Given the description of an element on the screen output the (x, y) to click on. 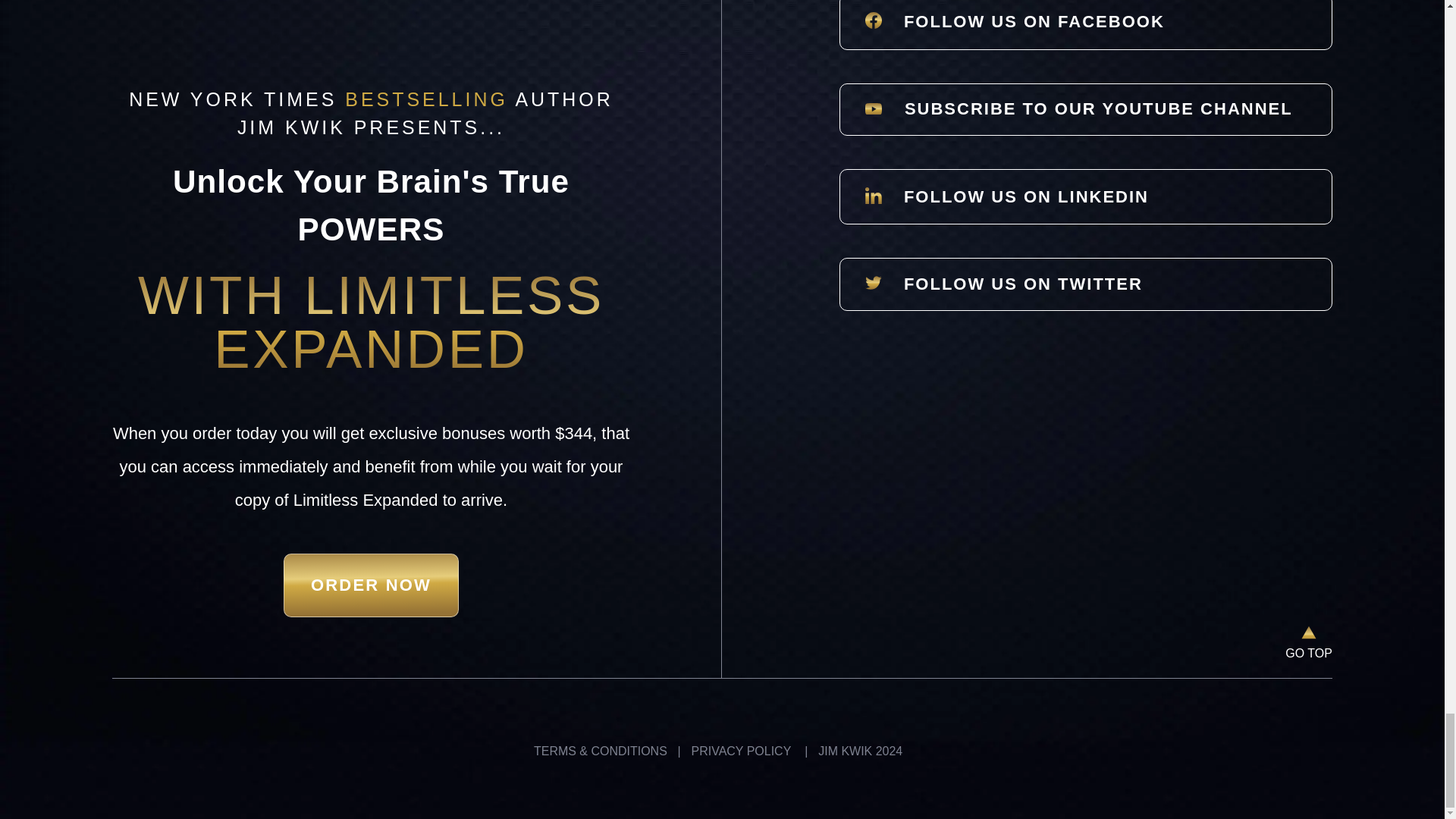
FOLLOW US ON FACEBOOK (1086, 24)
GO TOP (1308, 653)
FOLLOW US ON LINKEDIN (1086, 196)
FOLLOW US ON TWITTER (1086, 284)
SUBSCRIBE TO OUR YOUTUBE CHANNEL (1086, 109)
ORDER NOW (370, 585)
PRIVACY POLICY (740, 750)
